Given the description of an element on the screen output the (x, y) to click on. 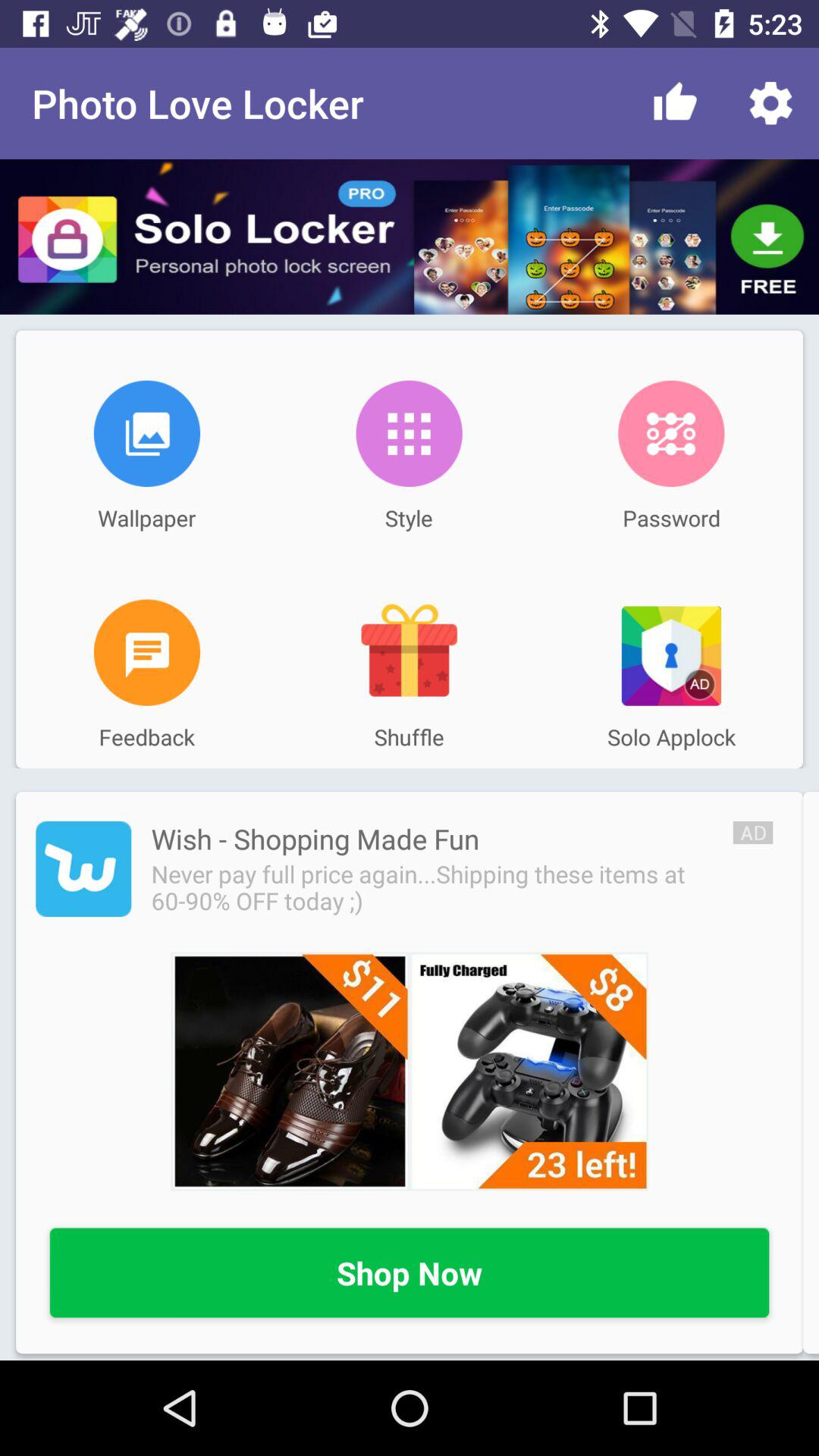
wish advertisement (409, 1071)
